Given the description of an element on the screen output the (x, y) to click on. 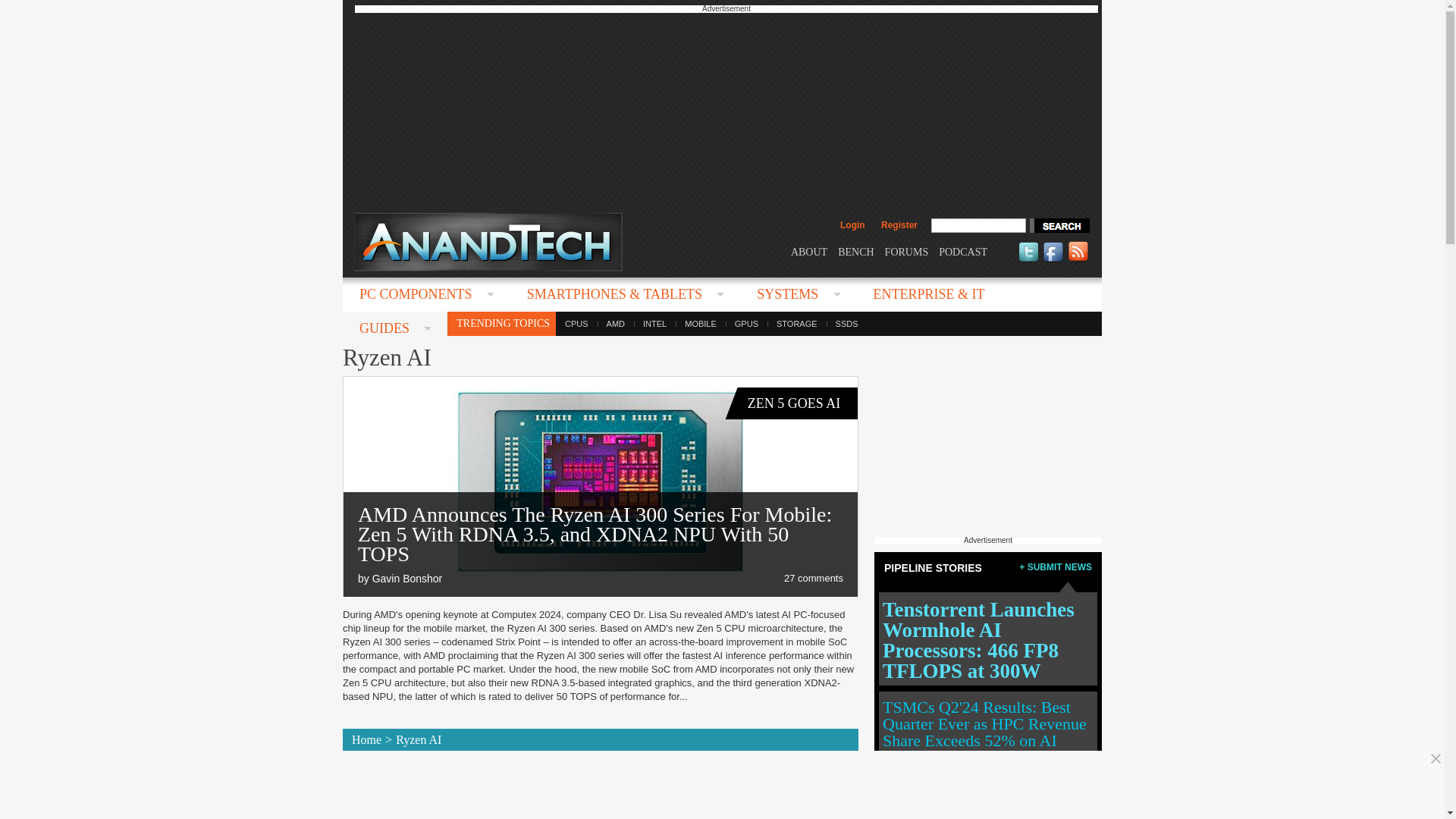
search (1059, 225)
search (1059, 225)
PODCAST (963, 251)
BENCH (855, 251)
search (1059, 225)
Register (898, 225)
ABOUT (808, 251)
Login (852, 225)
FORUMS (906, 251)
